Given the description of an element on the screen output the (x, y) to click on. 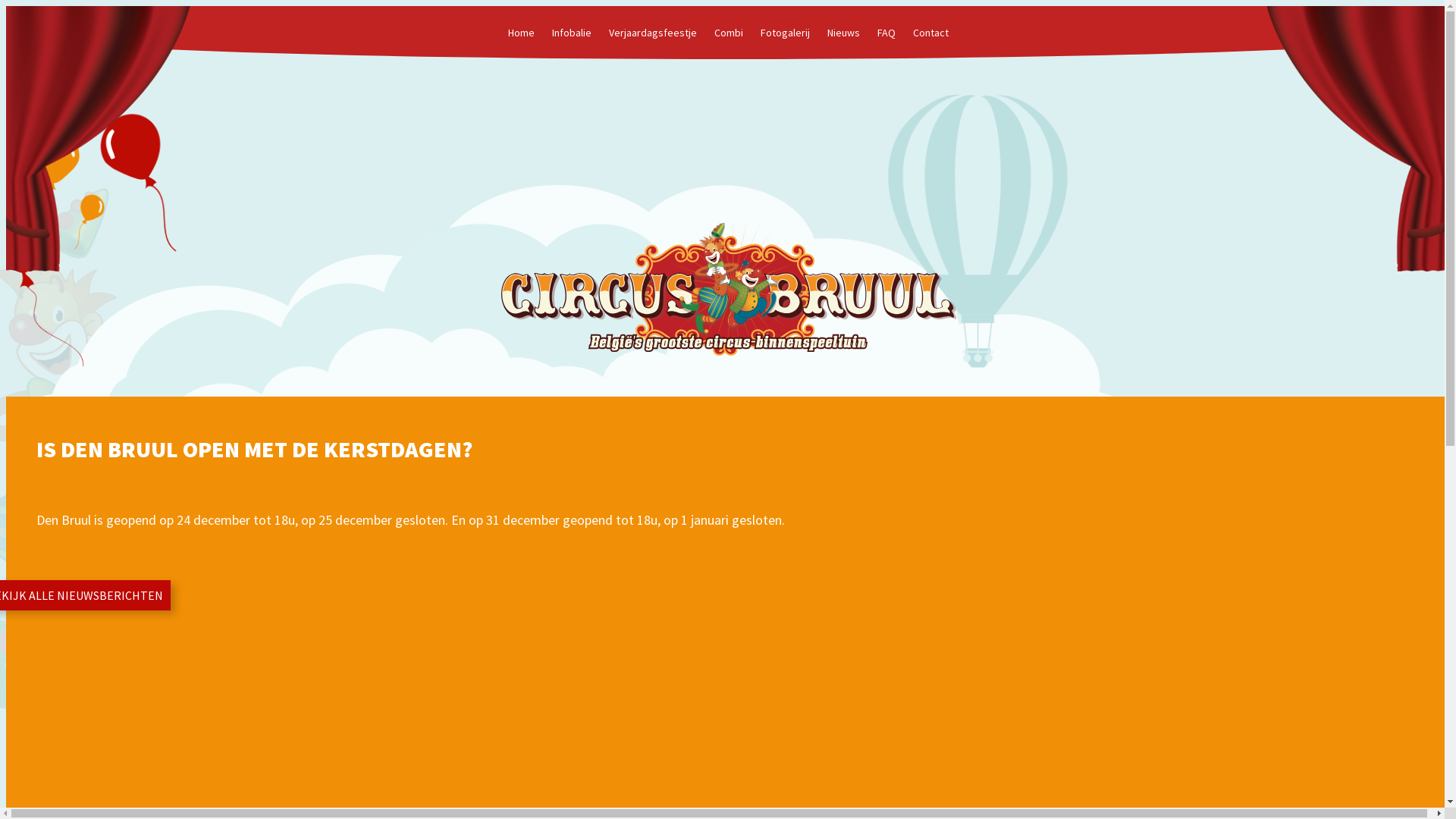
Fotogalerij Element type: text (785, 32)
Combi Element type: text (728, 32)
Infobalie Element type: text (571, 32)
FAQ Element type: text (886, 32)
Nieuws Element type: text (843, 32)
Contact Element type: text (930, 32)
Verjaardagsfeestje Element type: text (652, 32)
Bruul Circus Element type: text (727, 286)
Home Element type: text (521, 32)
